Given the description of an element on the screen output the (x, y) to click on. 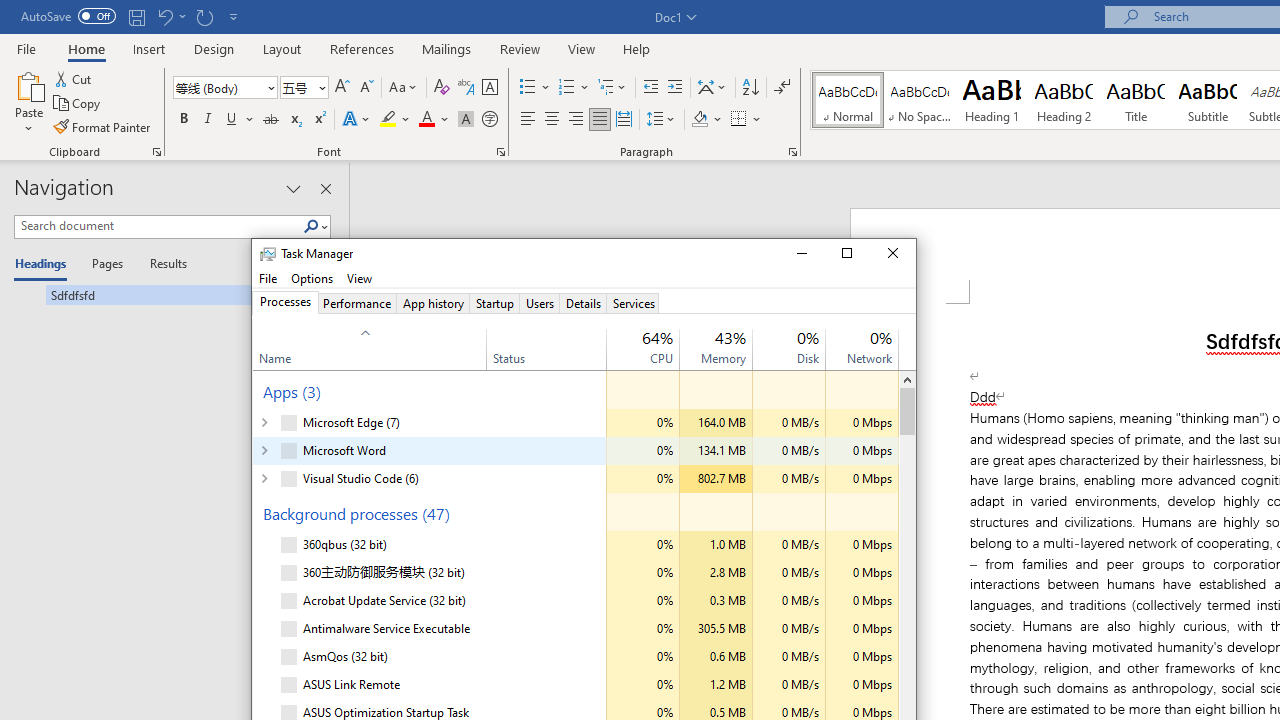
Startup (494, 303)
Repeat Insert Shape (204, 15)
